Given the description of an element on the screen output the (x, y) to click on. 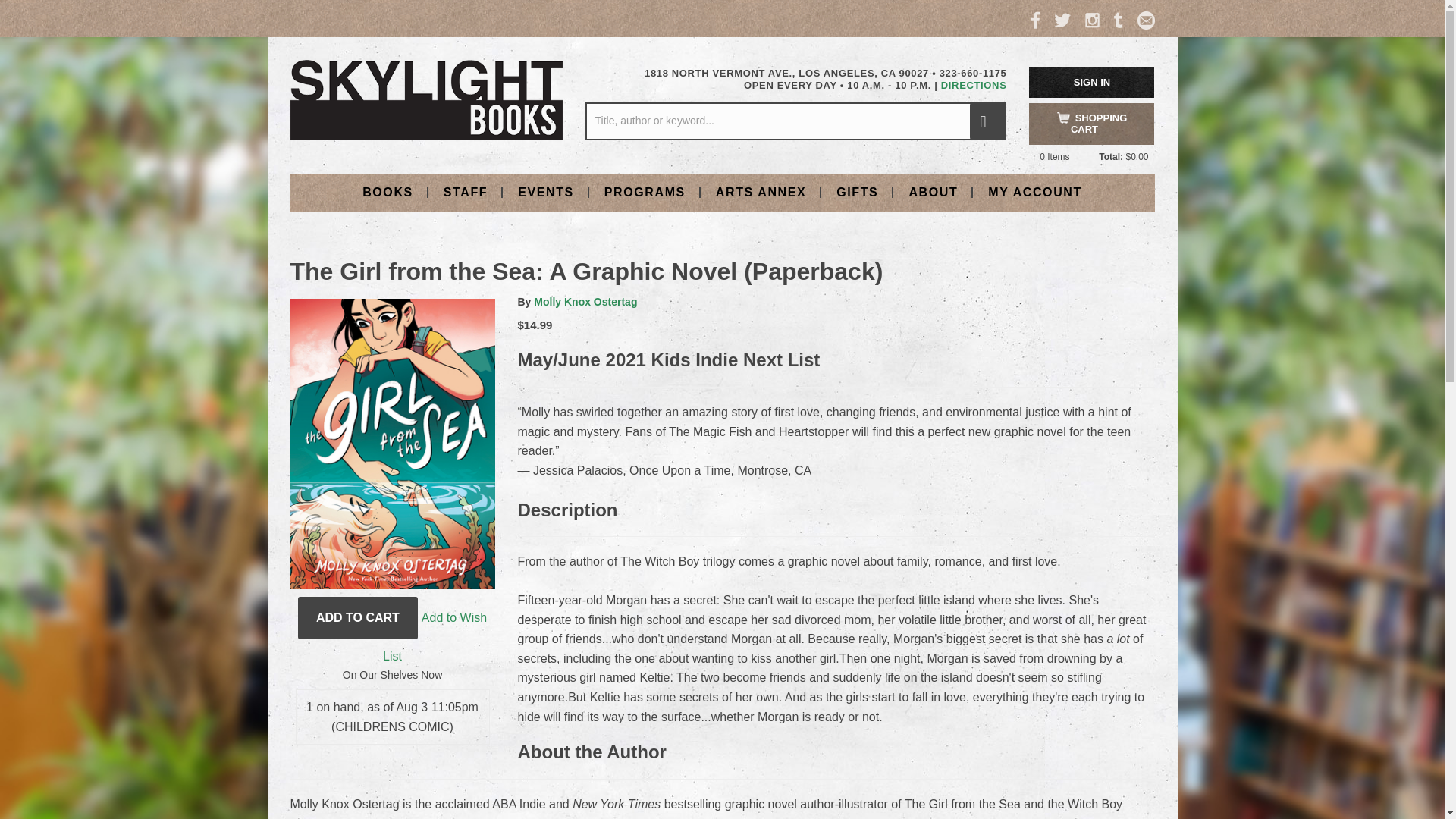
search (987, 121)
Home (425, 98)
STAFF (465, 191)
GIFTS (857, 191)
SHOPPING CART (1091, 123)
Title, author or keyword... (795, 121)
BOOKS (387, 191)
SIGN IN (1091, 81)
ARTS ANNEX (760, 191)
search (987, 121)
PROGRAMS (644, 191)
EVENTS (545, 191)
Add to Cart (357, 618)
DIRECTIONS (973, 84)
